Given the description of an element on the screen output the (x, y) to click on. 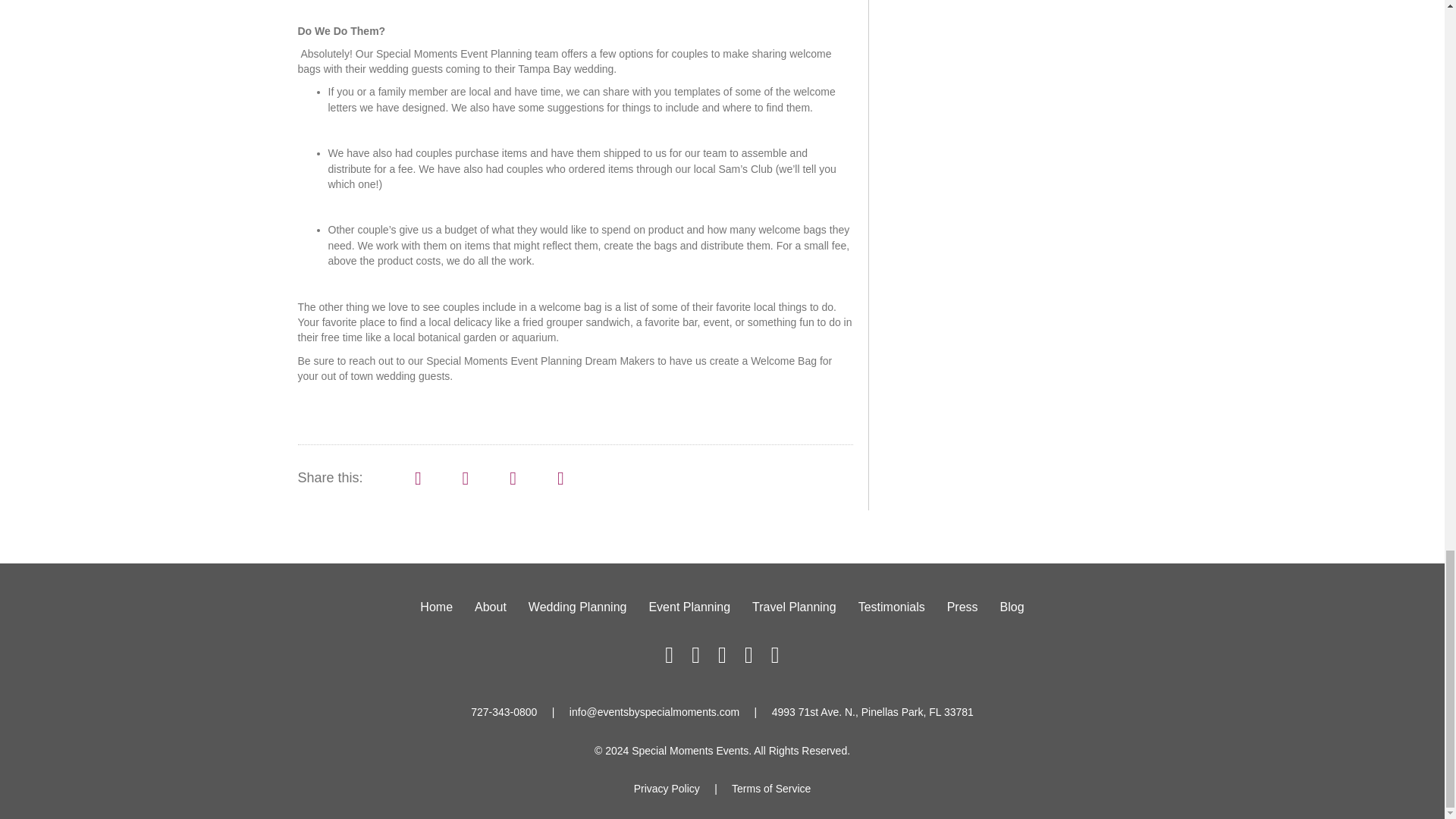
About (490, 606)
Wedding Planning (577, 606)
Travel Planning (794, 606)
Event Planning (689, 606)
Home (436, 606)
